Given the description of an element on the screen output the (x, y) to click on. 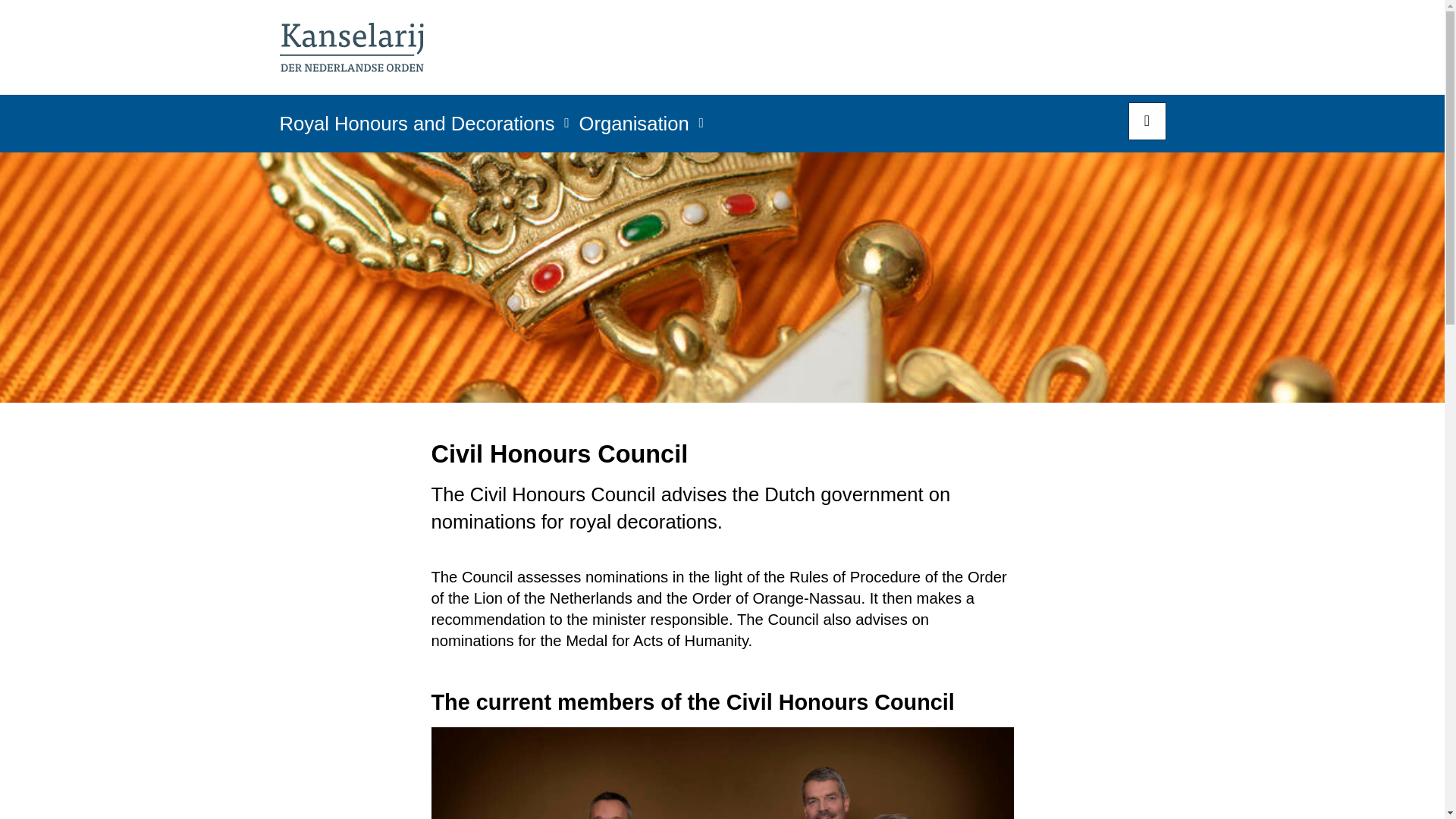
Royal Honours and Decorations (416, 128)
Open search box (1146, 121)
Open search box (1146, 121)
Organisation (633, 128)
